Given the description of an element on the screen output the (x, y) to click on. 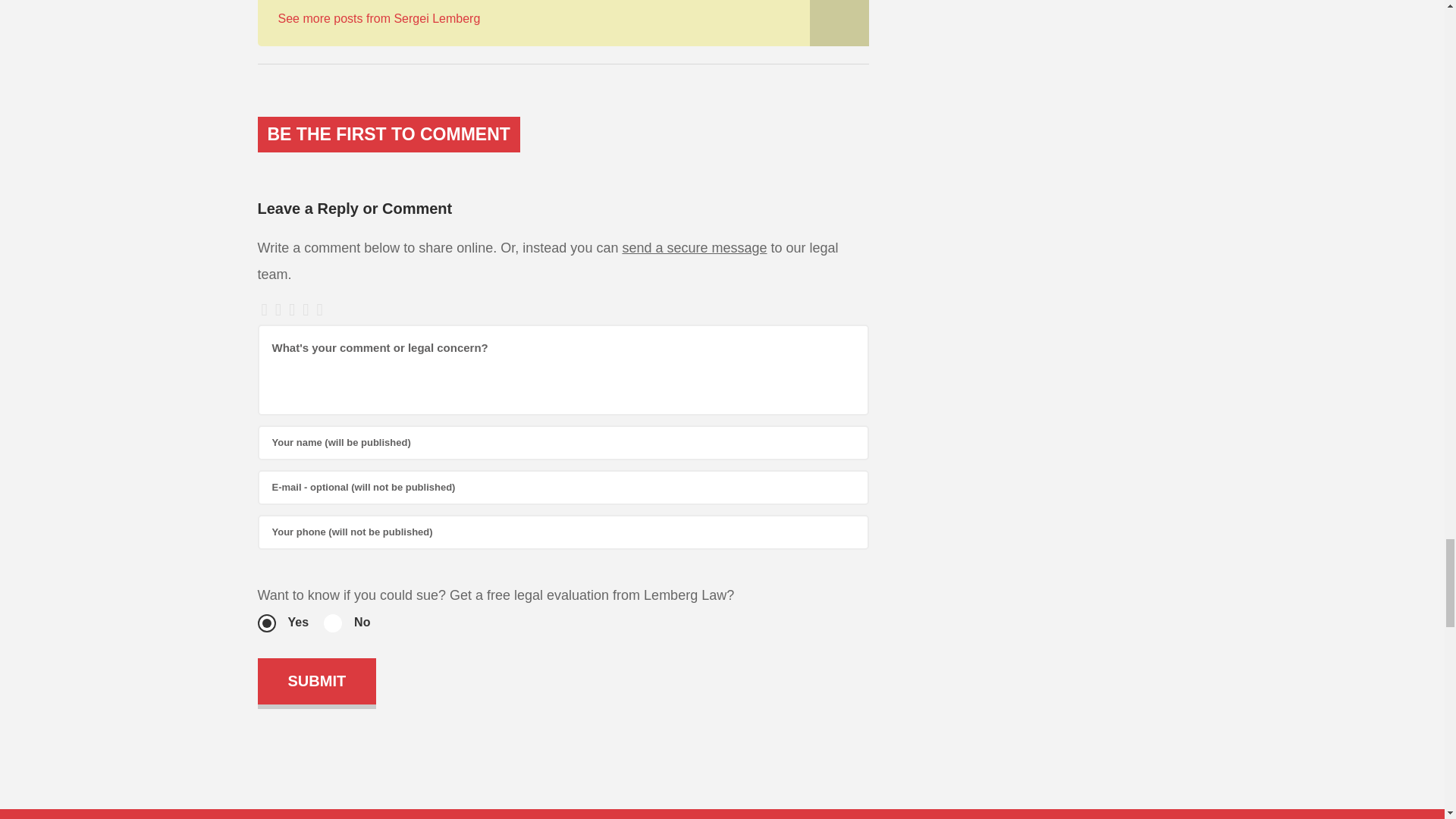
SUBMIT (317, 681)
